Given the description of an element on the screen output the (x, y) to click on. 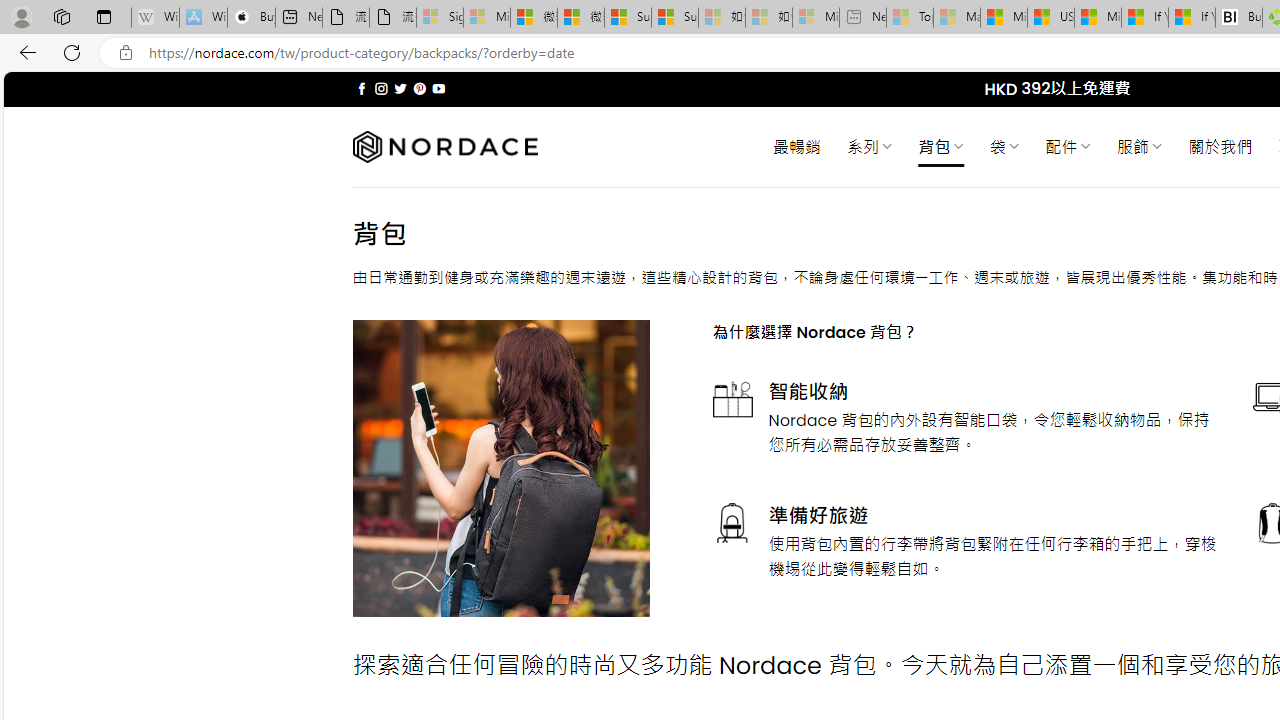
New tab - Sleeping (862, 17)
Nordace (444, 147)
Top Stories - MSN - Sleeping (910, 17)
Wikipedia - Sleeping (155, 17)
Follow on Pinterest (419, 88)
